Given the description of an element on the screen output the (x, y) to click on. 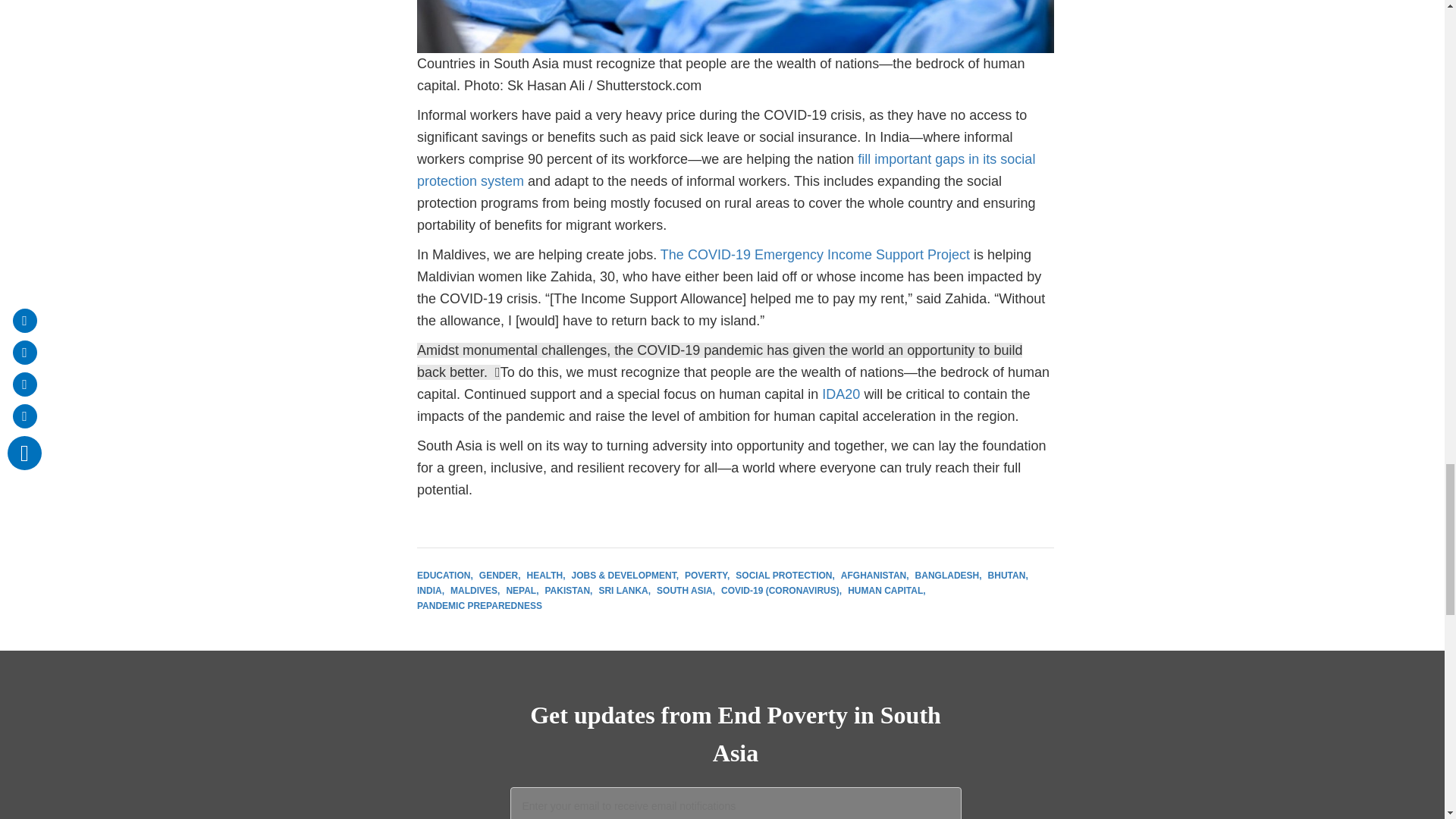
HEALTH (544, 575)
The COVID-19 Emergency Income Support Project (815, 254)
POVERTY (706, 575)
IDA20 (841, 394)
fill important gaps in its social protection system (725, 170)
GENDER (500, 575)
EDUCATION (444, 575)
